Given the description of an element on the screen output the (x, y) to click on. 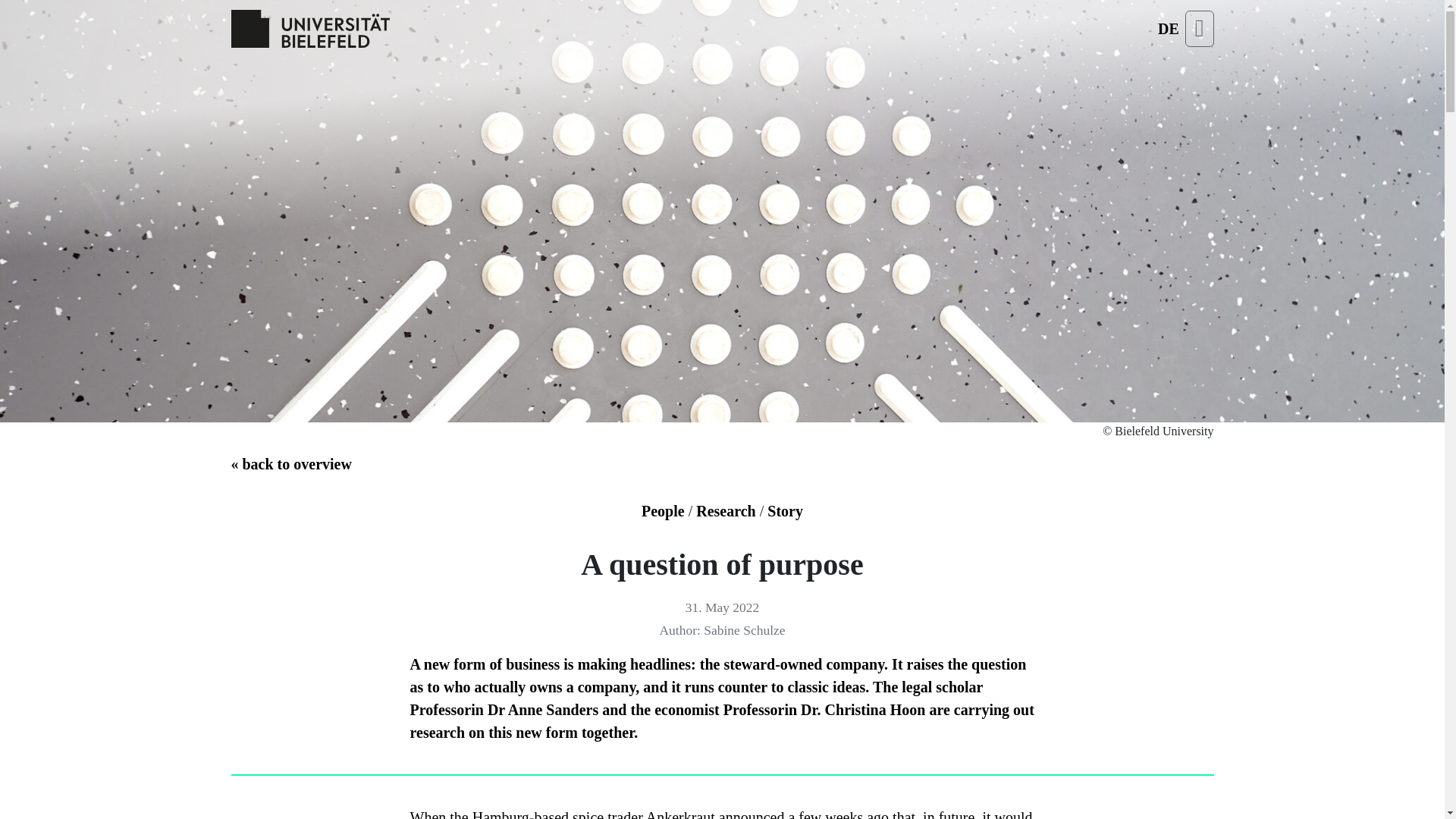
Research (725, 510)
People (663, 510)
Uni Bielefeld Logo (310, 28)
Story (785, 510)
Uni Bielefeld Logo (310, 28)
